Given the description of an element on the screen output the (x, y) to click on. 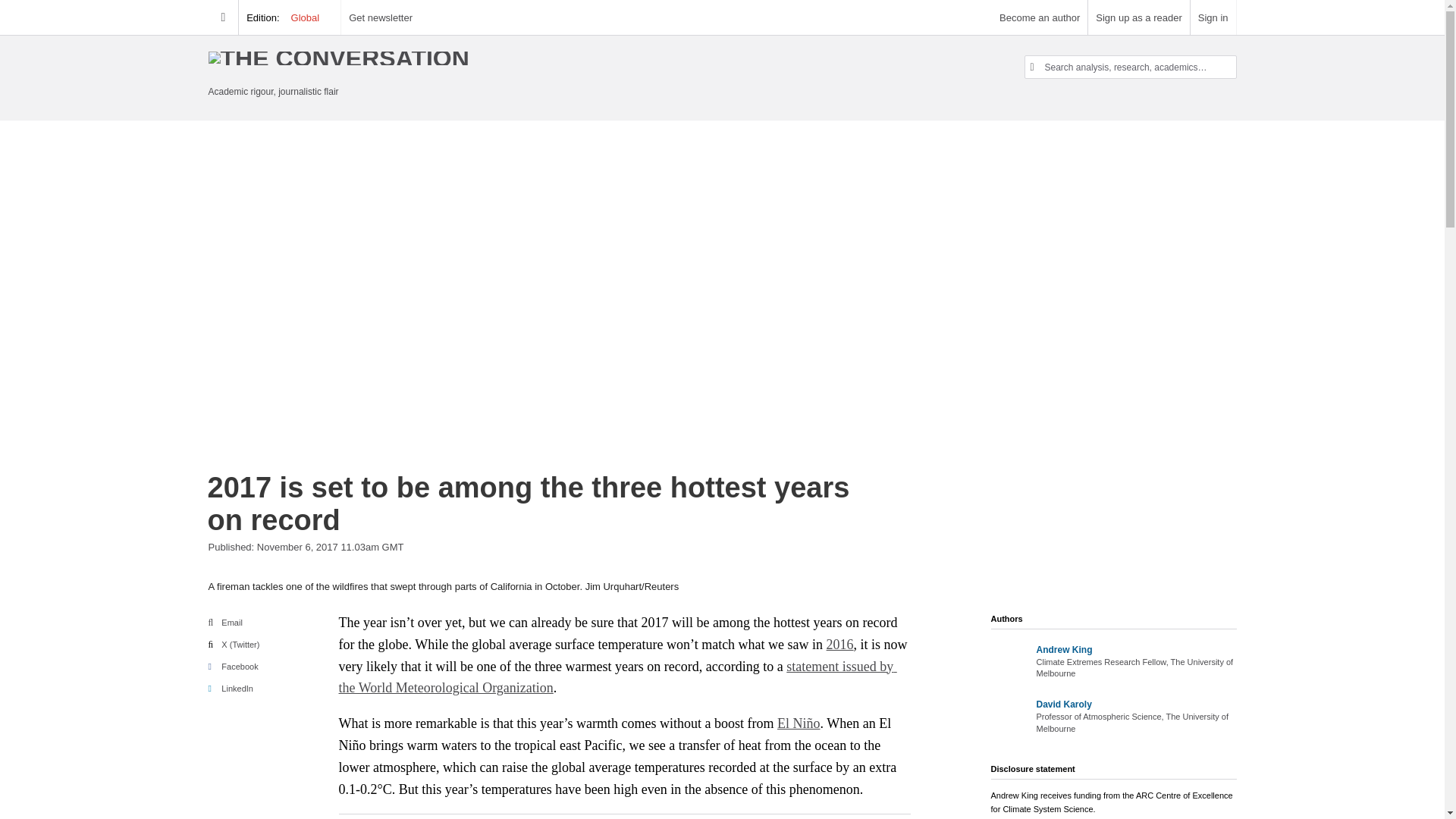
Get newsletter (380, 17)
Become an author (1039, 17)
LinkedIn (229, 687)
Email (224, 622)
2016 (840, 644)
Facebook (232, 665)
statement issued by the World Meteorological Organization (616, 677)
Search (5, 2)
Sign up as a reader (1138, 17)
Andrew King (1063, 649)
Sign in (1213, 17)
David Karoly (1062, 704)
Sign up to receive our daily email newsletter (380, 17)
